Given the description of an element on the screen output the (x, y) to click on. 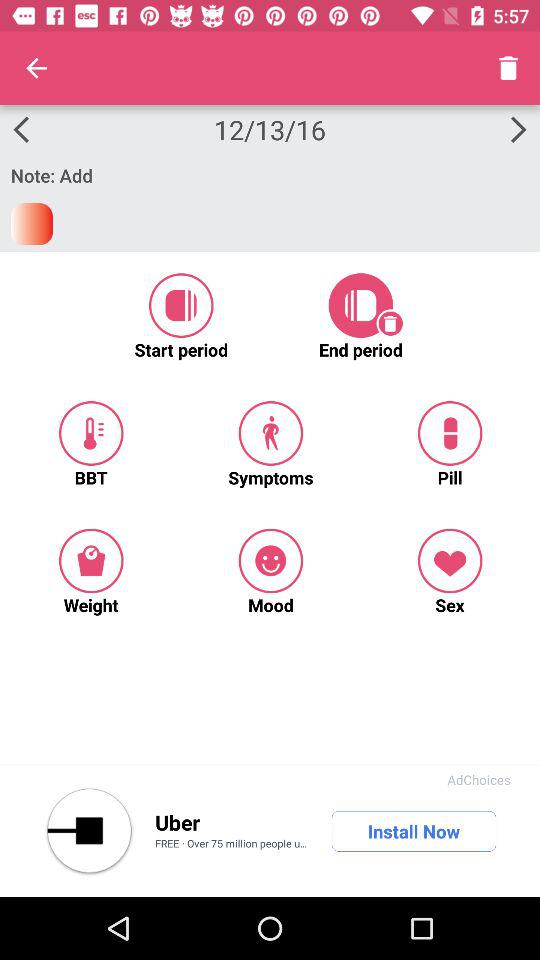
jump to free over 75 item (233, 845)
